Given the description of an element on the screen output the (x, y) to click on. 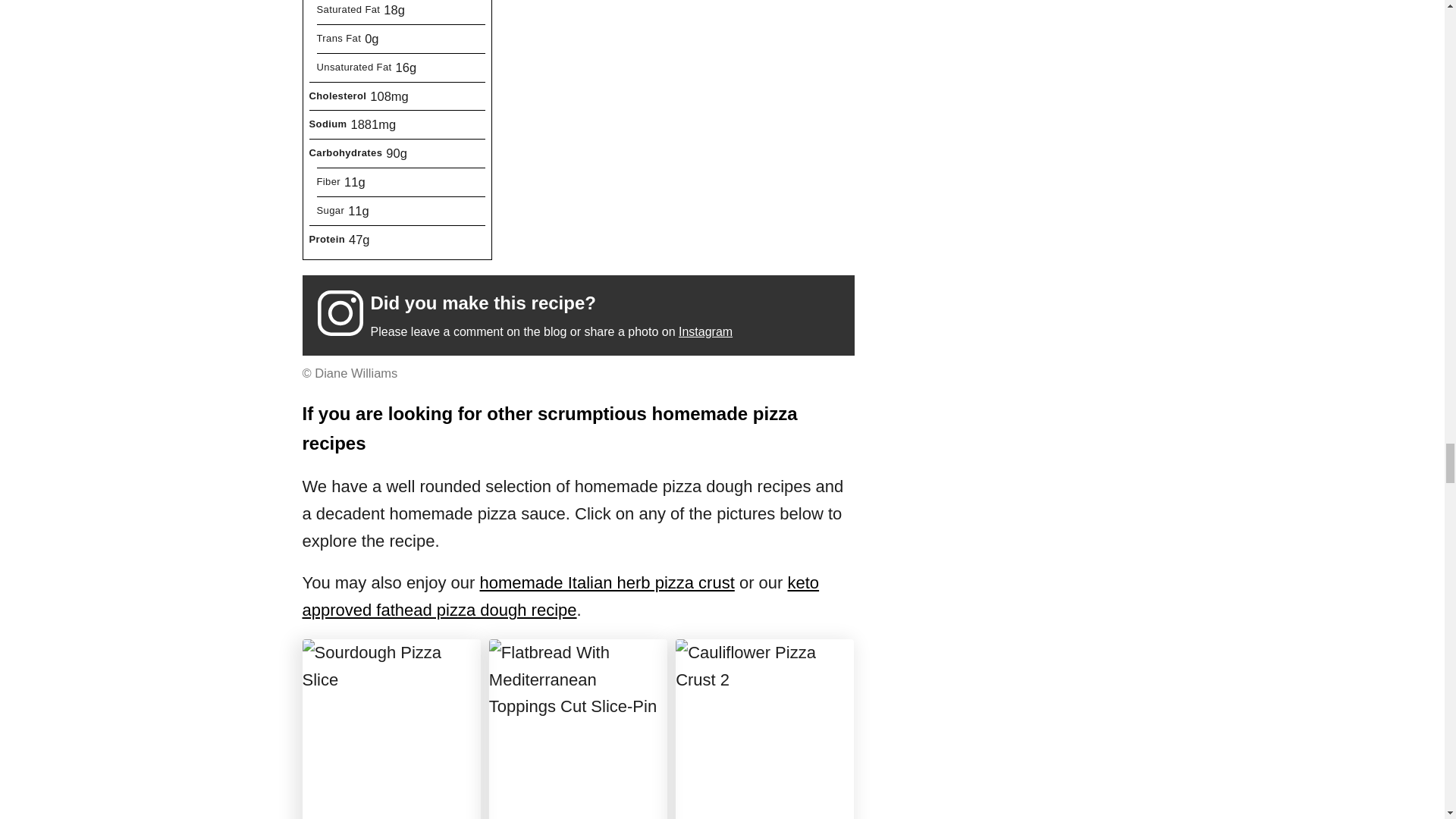
Homemade Pizzas On Indian Naan Bread 8 (390, 729)
Homemade Pizzas On Indian Naan Bread 10 (764, 729)
Homemade Pizzas On Indian Naan Bread 9 (577, 729)
